Given the description of an element on the screen output the (x, y) to click on. 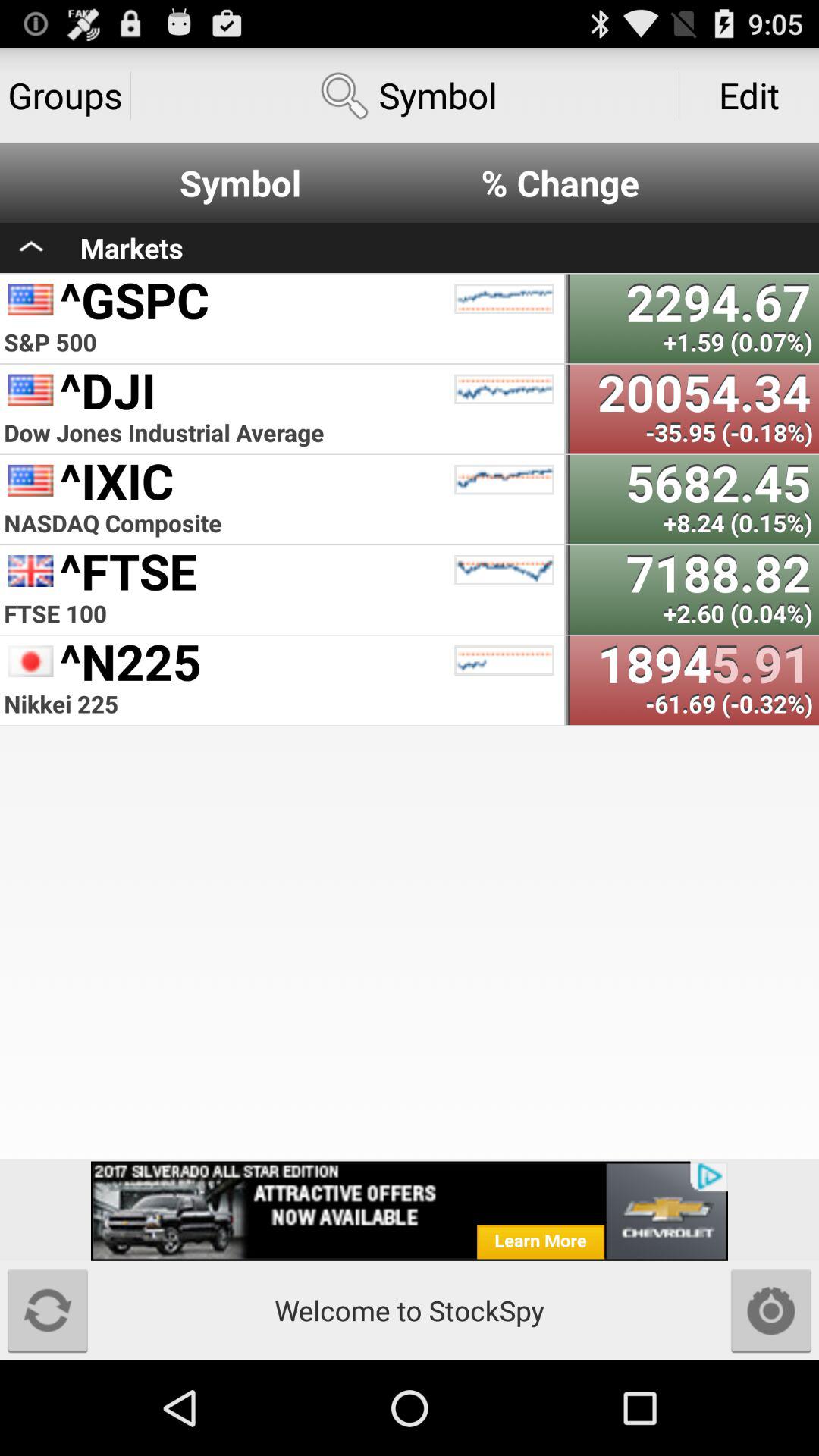
refresh the page button (47, 1310)
